Given the description of an element on the screen output the (x, y) to click on. 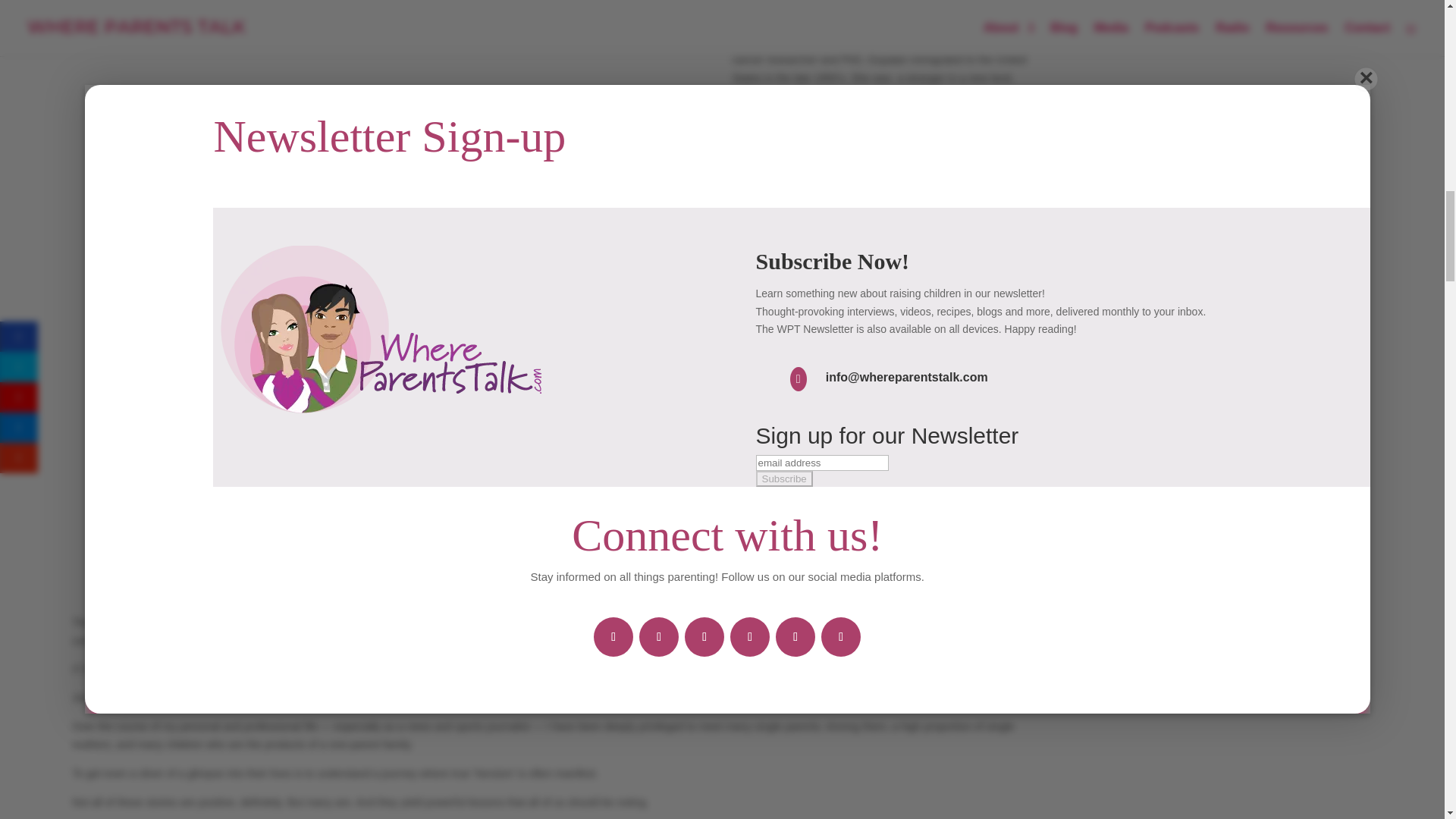
Kamala Harris (868, 13)
